Given the description of an element on the screen output the (x, y) to click on. 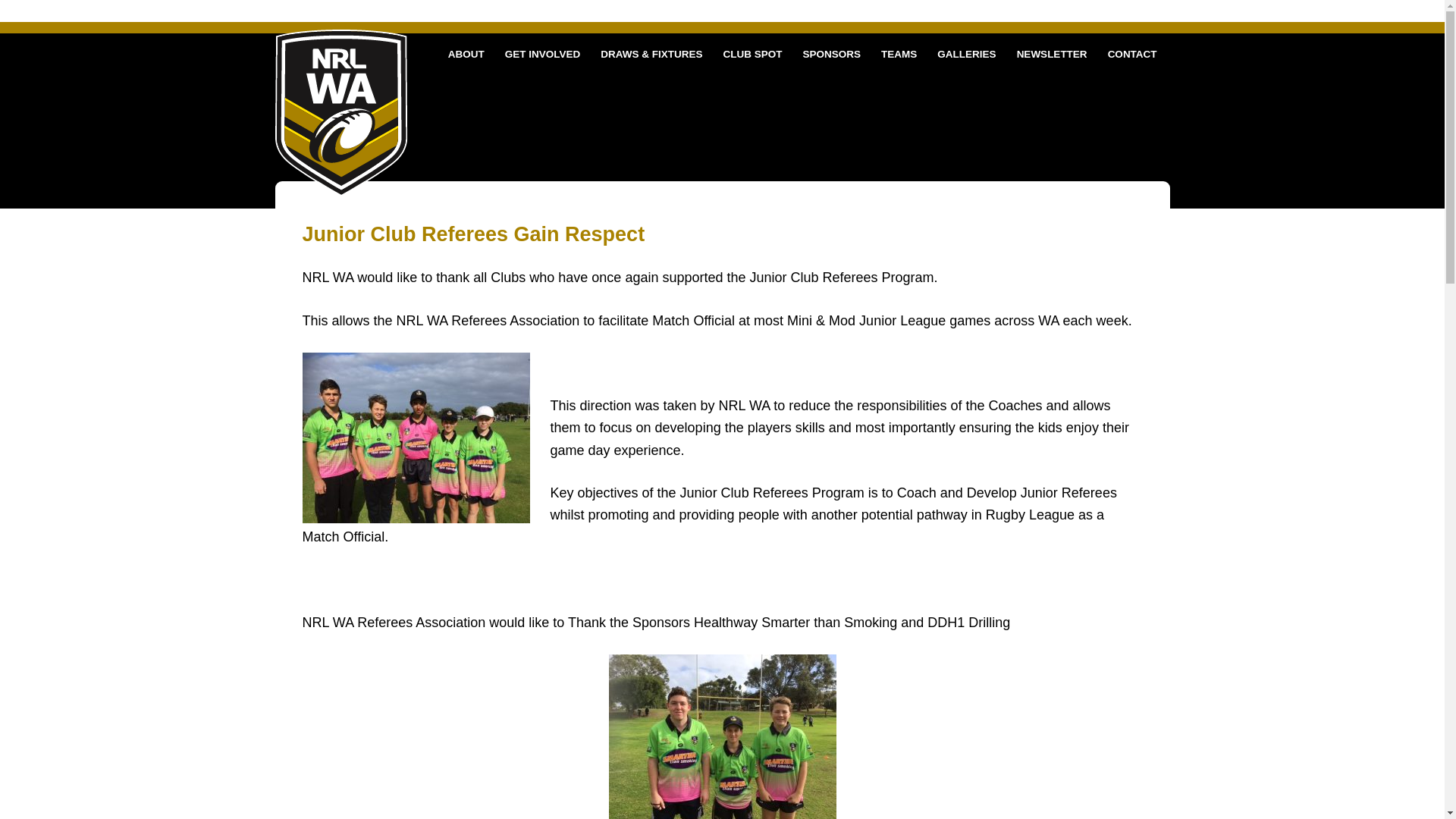
SPONSORS (830, 53)
GET INVOLVED (542, 53)
CLUB SPOT (751, 53)
TEAMS (898, 53)
ABOUT (466, 53)
GALLERIES (967, 53)
CONTACT (1131, 53)
NEWSLETTER (1051, 53)
